Given the description of an element on the screen output the (x, y) to click on. 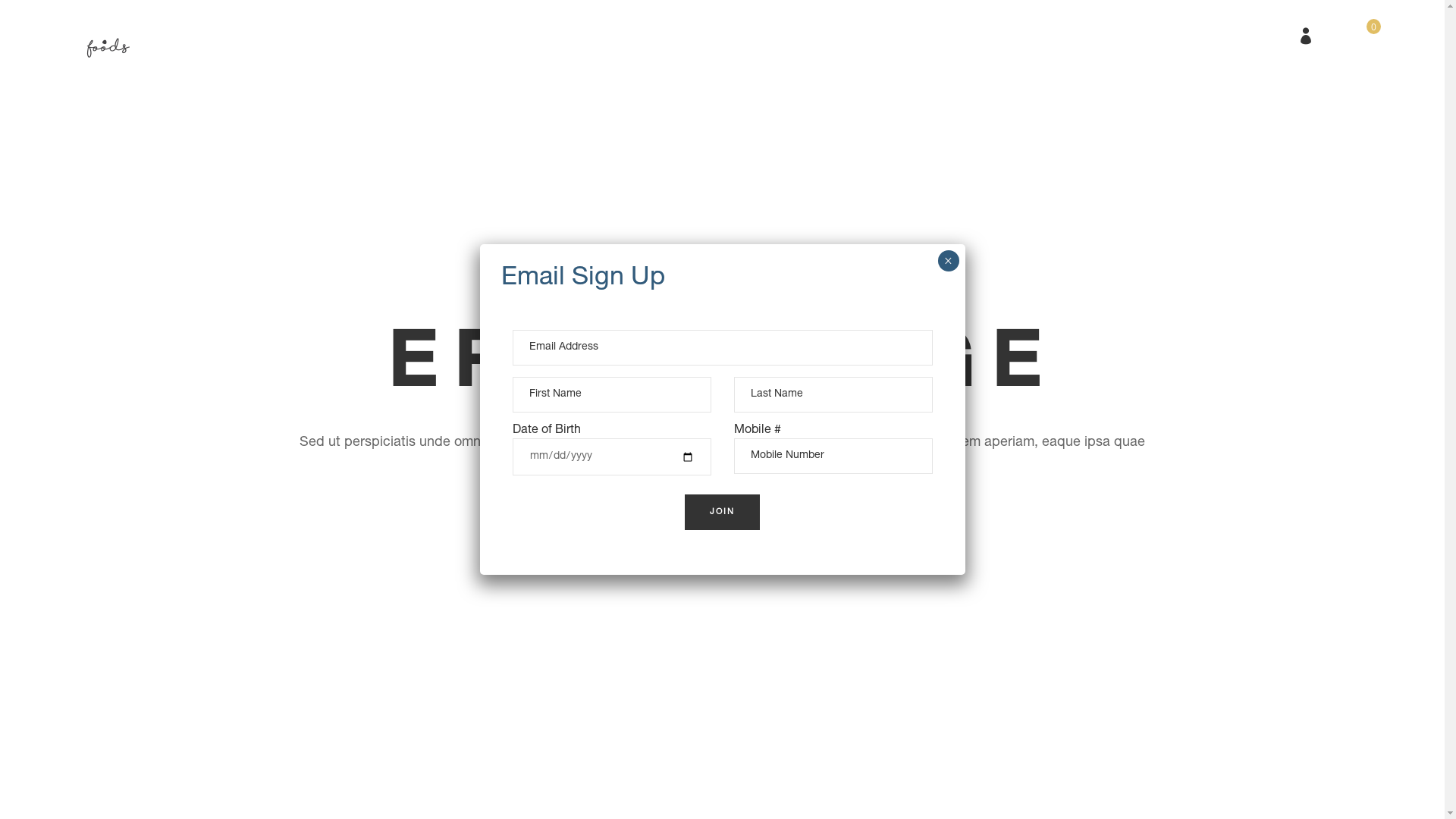
SHOP Element type: text (737, 34)
Join Element type: text (722, 512)
FIND US Element type: text (958, 34)
0 Element type: text (1363, 34)
BACK TO HOME Element type: text (721, 508)
CHRISTMAS MENU Element type: text (572, 34)
HOME Element type: text (474, 34)
DELIVERY SCHEDULE Element type: text (841, 34)
CAKES Element type: text (671, 34)
